Given the description of an element on the screen output the (x, y) to click on. 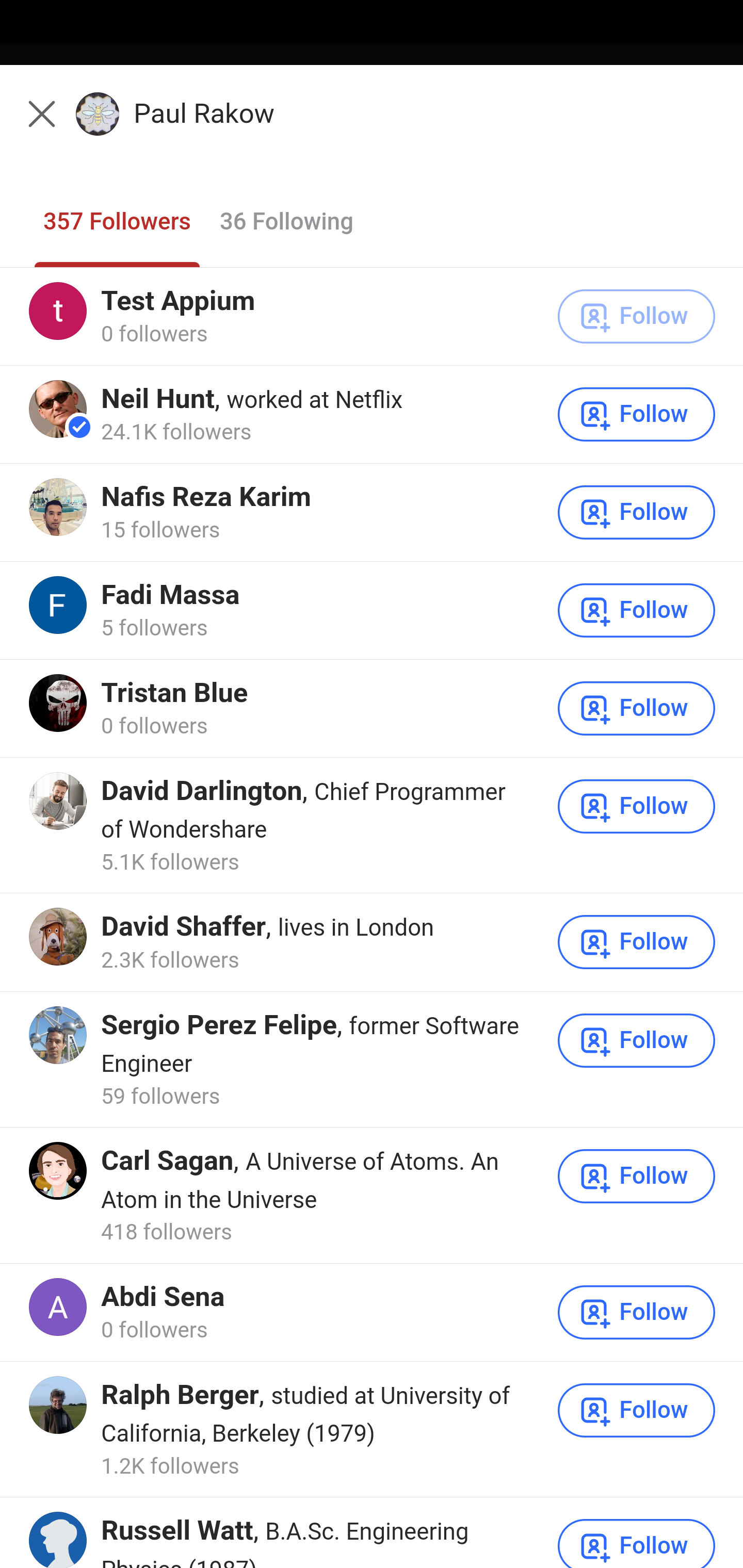
Back Test Appium (371, 125)
 (39, 112)
